Given the description of an element on the screen output the (x, y) to click on. 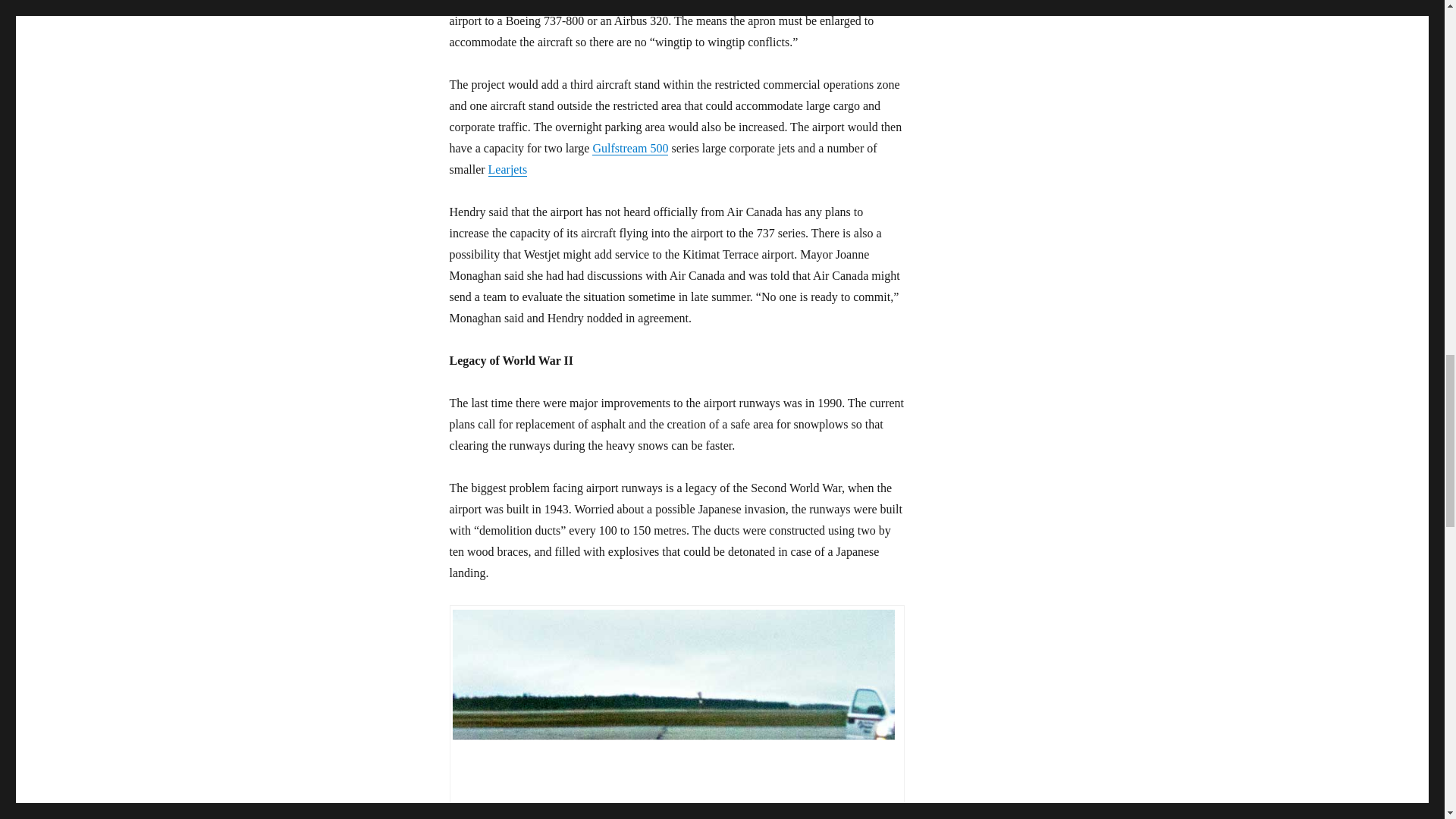
Learjets (507, 169)
airportducts (672, 714)
Gulfstream 500 (630, 147)
